Given the description of an element on the screen output the (x, y) to click on. 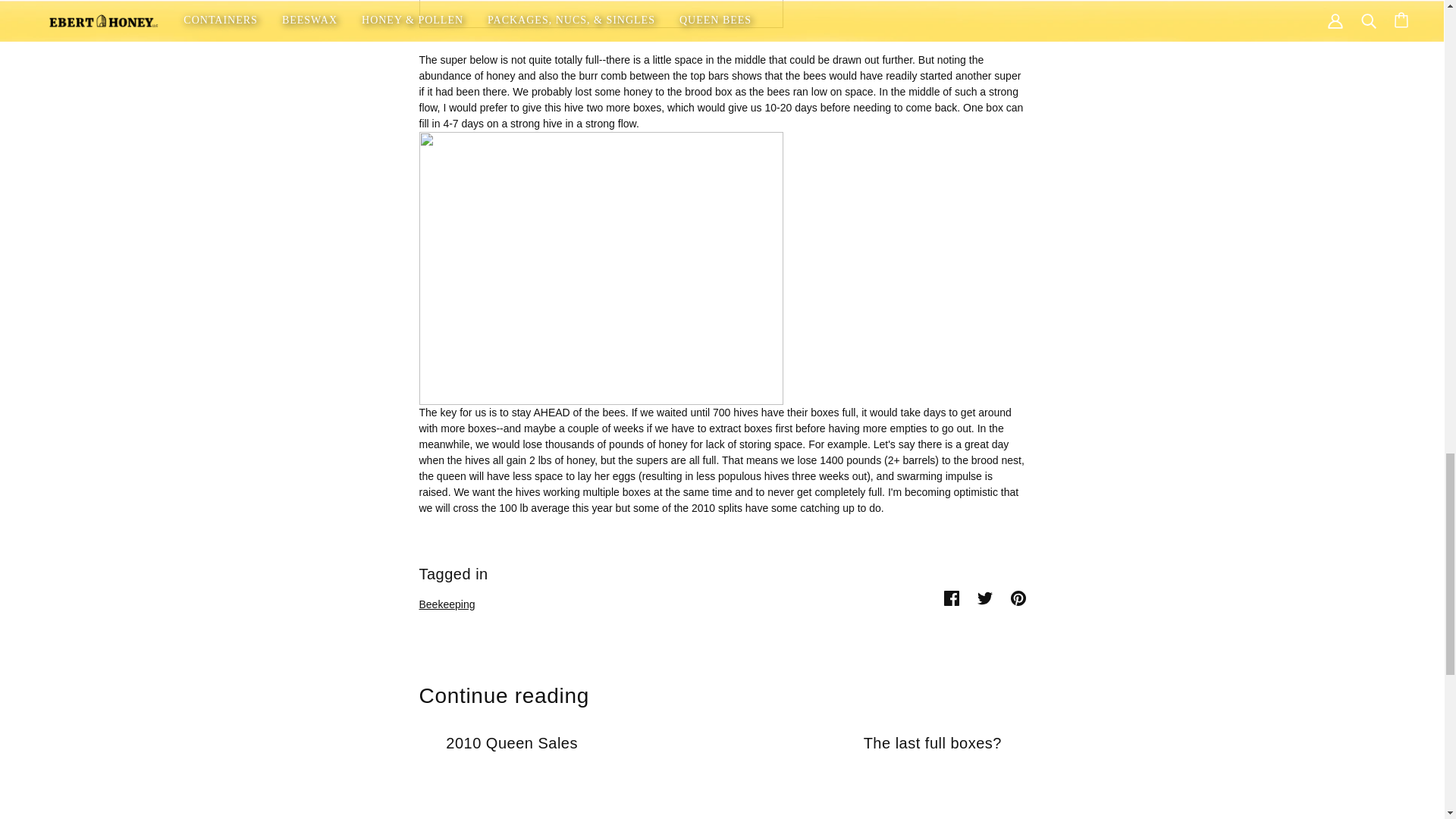
2010 Queen Sales (511, 776)
The last full boxes? (932, 776)
Beekeeping (446, 604)
